Given the description of an element on the screen output the (x, y) to click on. 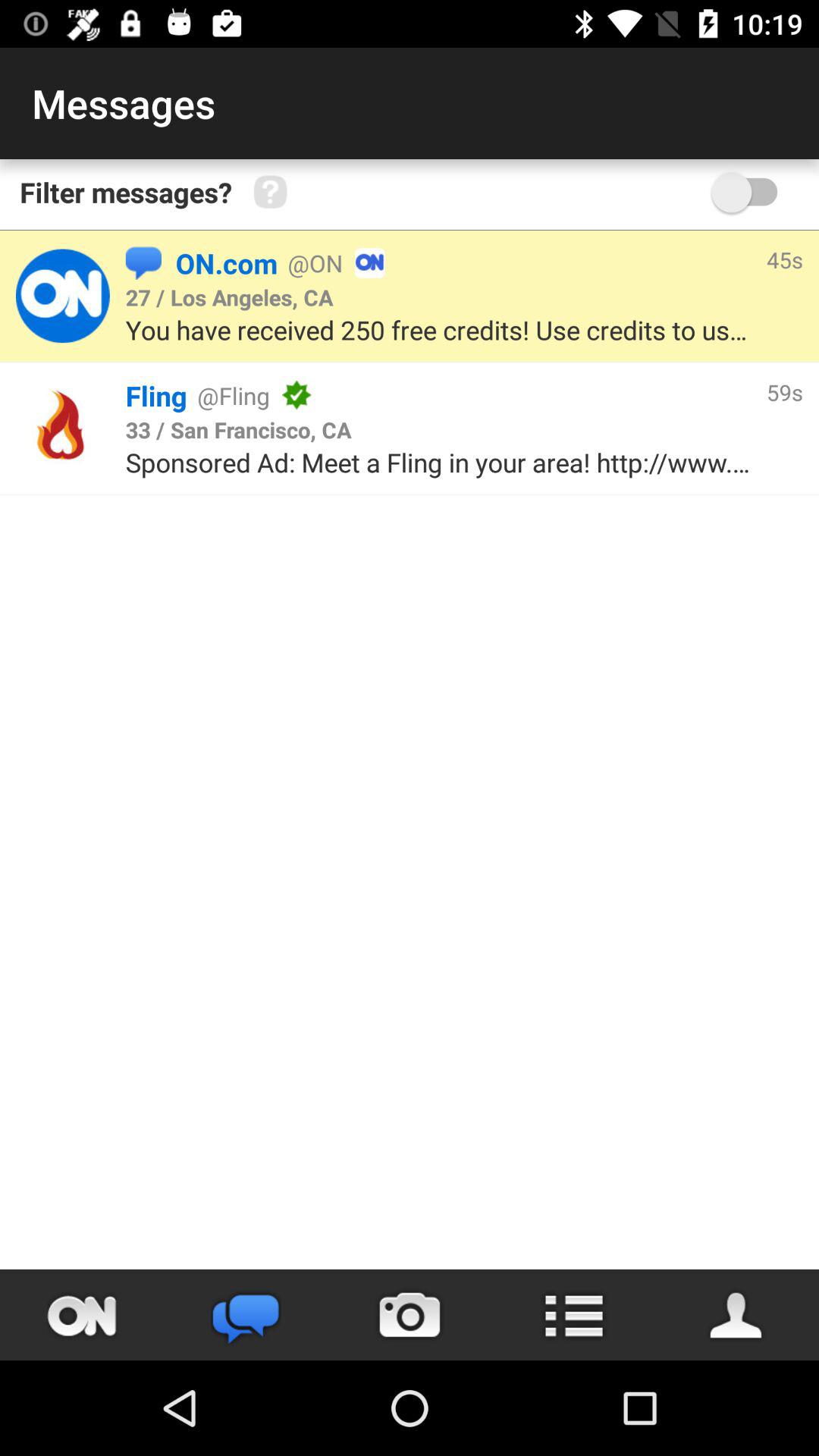
switch chat option (245, 1315)
